Given the description of an element on the screen output the (x, y) to click on. 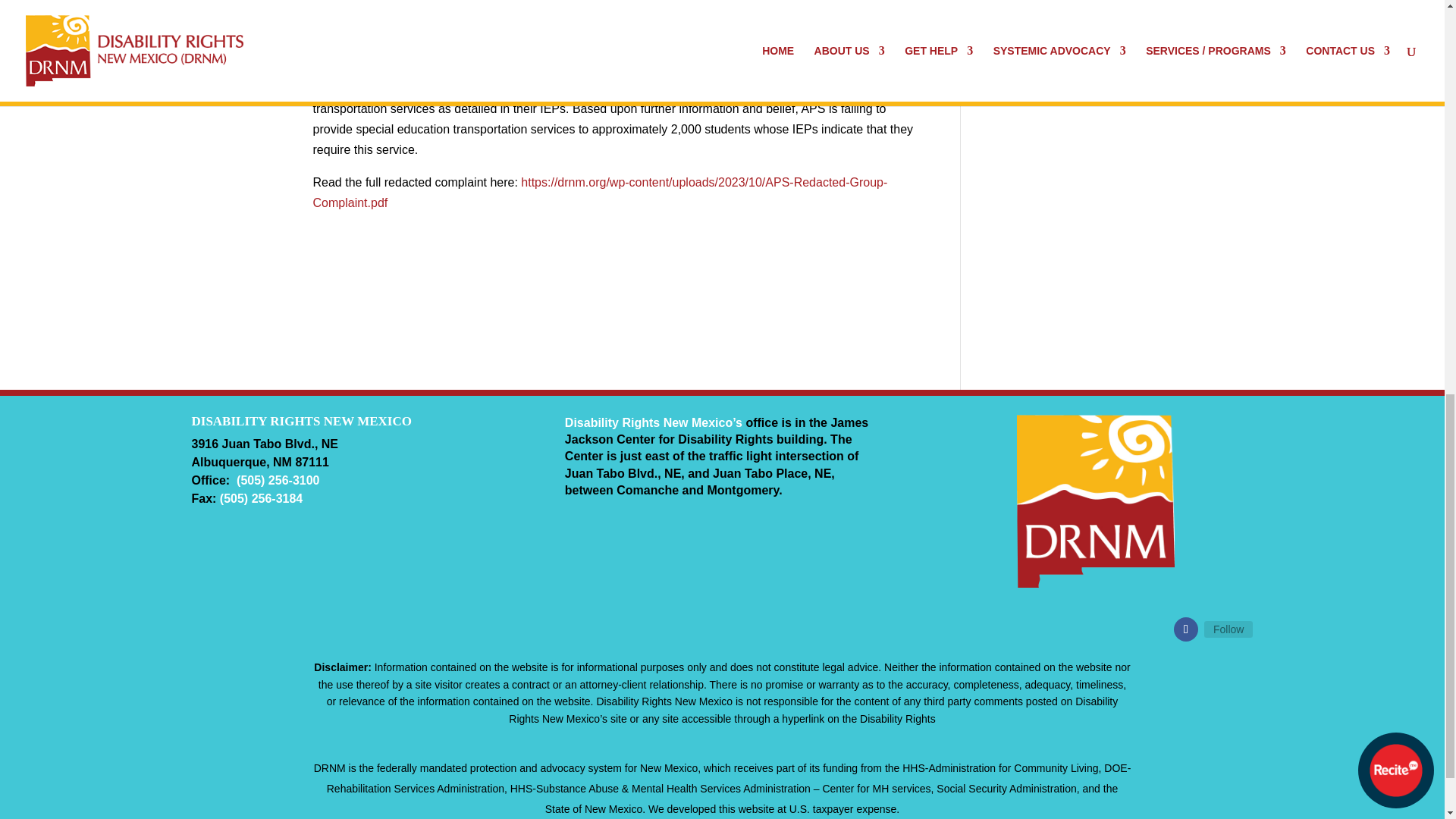
Follow on Facebook (1185, 629)
DRNM-Logo (1095, 501)
Facebook (1228, 629)
